Given the description of an element on the screen output the (x, y) to click on. 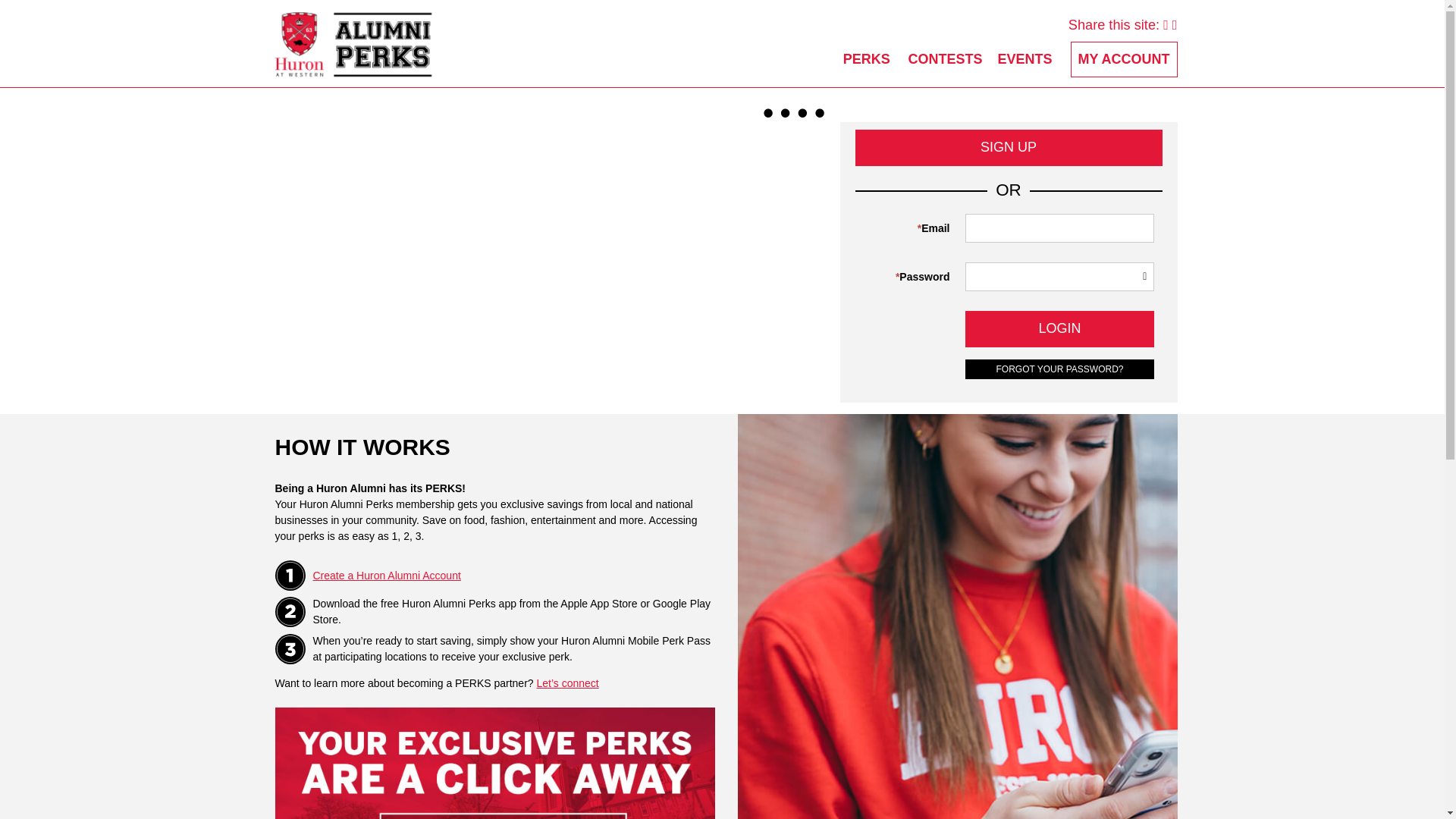
Create a Huron Alumni Account (386, 575)
PERKS (866, 59)
Twitter (1166, 24)
EVENTS (1024, 59)
SIGN UP (1008, 147)
Facebook (1174, 24)
CONTESTS (945, 59)
LOGIN (1058, 329)
MY ACCOUNT (1123, 58)
FORGOT YOUR PASSWORD? (1058, 369)
